Given the description of an element on the screen output the (x, y) to click on. 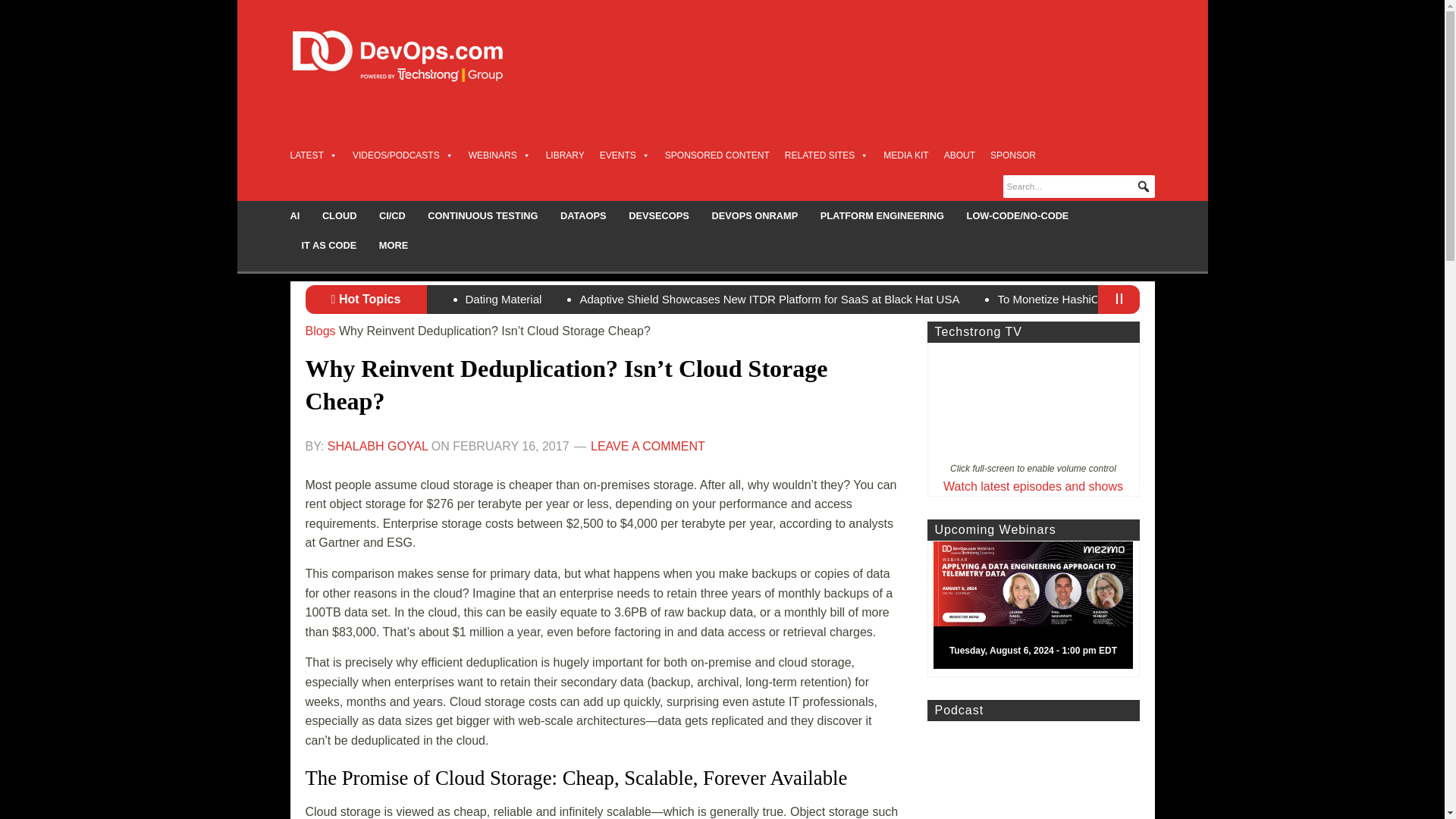
EVENTS (624, 155)
DEVOPS.COM (414, 56)
SPONSORED CONTENT (717, 155)
LATEST (312, 155)
Dating Material (503, 298)
WEBINARS (499, 155)
Tuesday, August 6, 2024 - 1:00 pm EDT (1038, 608)
RELATED SITES (825, 155)
LIBRARY (565, 155)
